Given the description of an element on the screen output the (x, y) to click on. 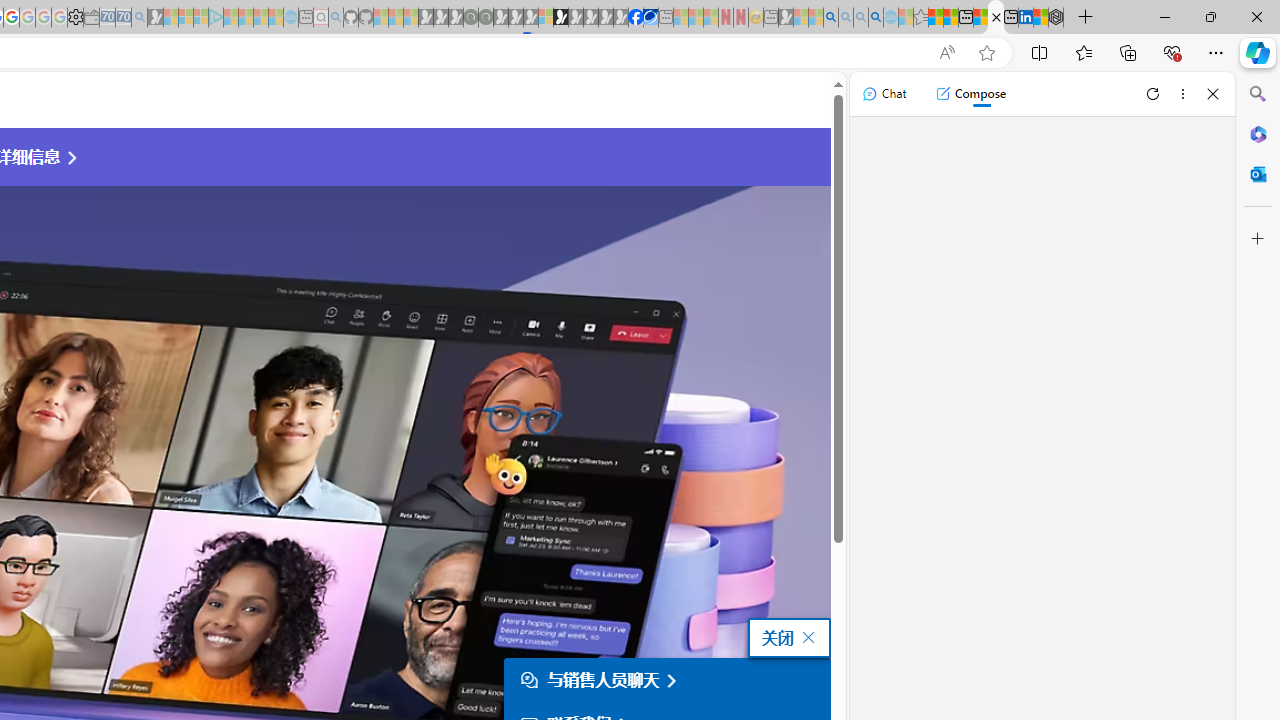
Microsoft Start Gaming - Sleeping (155, 17)
Nordace | Facebook (635, 17)
